Given the description of an element on the screen output the (x, y) to click on. 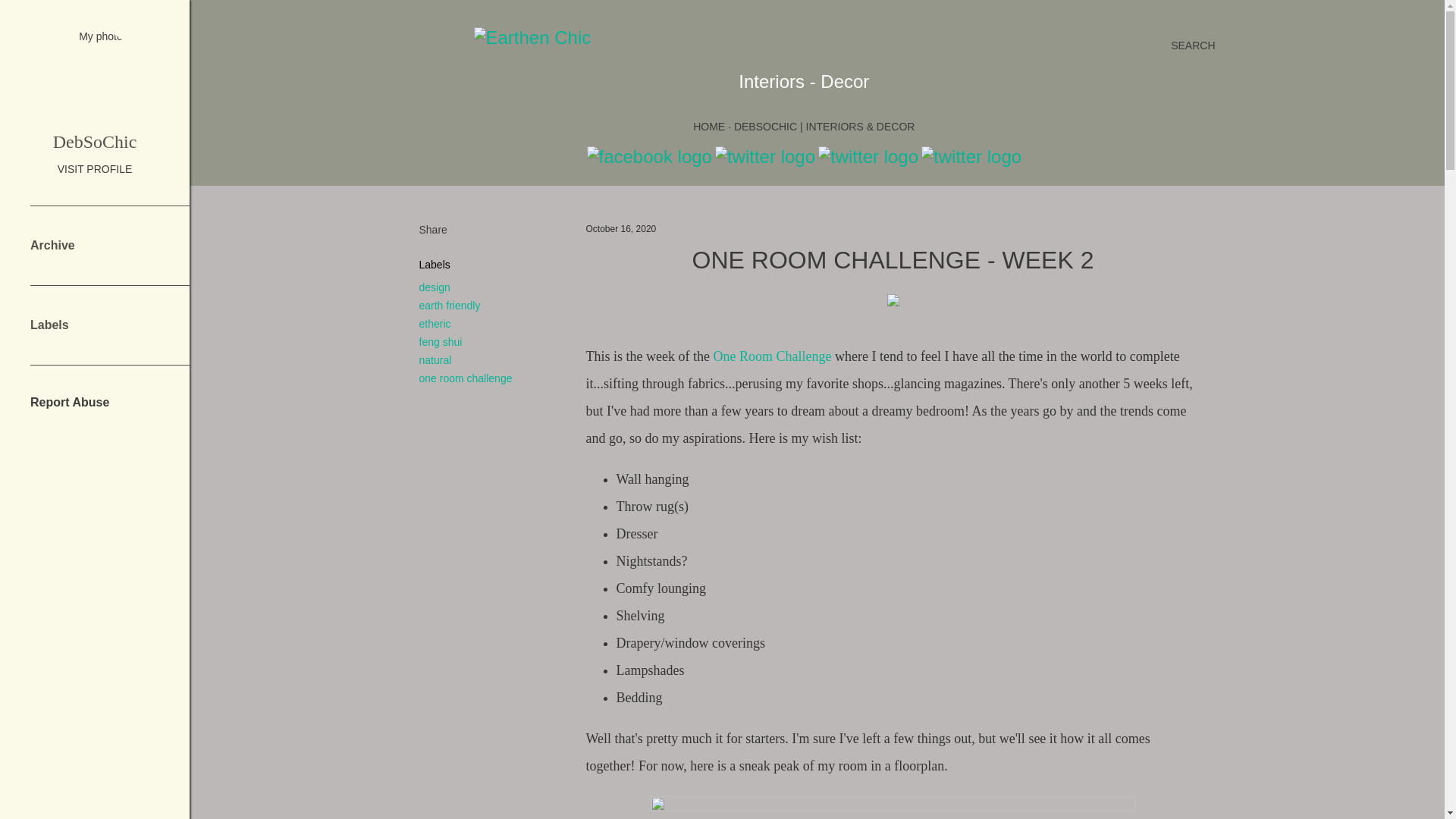
permanent link (620, 228)
design (434, 287)
One Room Challenge (772, 355)
October 16, 2020 (620, 228)
earth friendly (449, 305)
HOME (709, 126)
SEARCH (1192, 45)
one room challenge (465, 378)
feng shui (440, 341)
natural (435, 359)
